Given the description of an element on the screen output the (x, y) to click on. 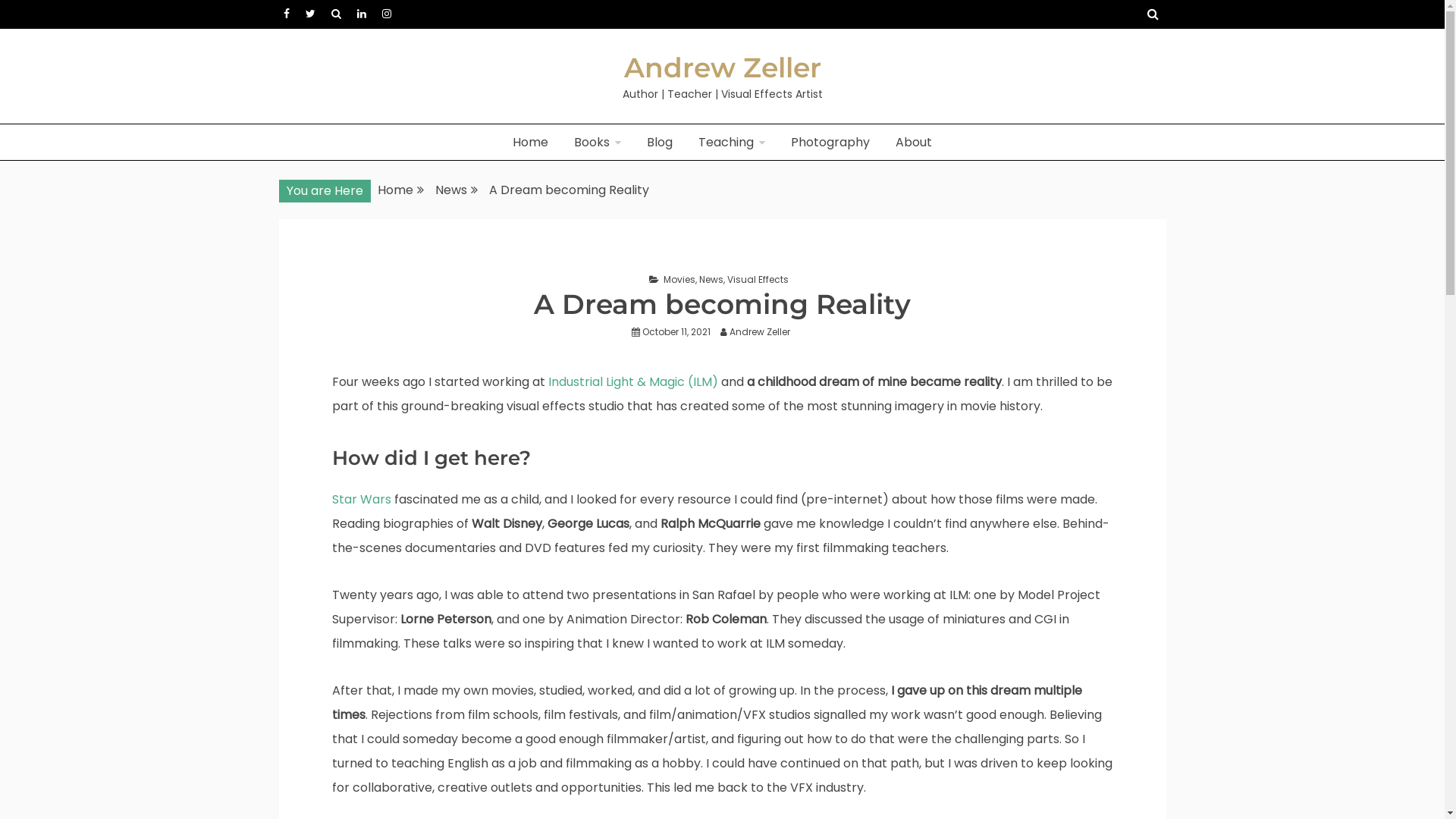
News Element type: text (451, 189)
Books Element type: text (597, 142)
October 11, 2021 Element type: text (676, 331)
Facebook Page Element type: text (286, 13)
Blog Element type: text (659, 142)
Home Element type: text (395, 189)
Andrew Zeller Element type: text (721, 67)
News Element type: text (711, 279)
Home Element type: text (530, 142)
LinkedIn Element type: text (360, 13)
Movies Element type: text (678, 279)
About Element type: text (913, 142)
Teaching Element type: text (731, 142)
Search Element type: text (31, 13)
Andrew Zeller Element type: text (763, 331)
goodreads Element type: text (335, 13)
Visual Effects Element type: text (756, 279)
Industrial Light & Magic (ILM) Element type: text (632, 381)
Twitter Element type: text (309, 13)
Star Wars Element type: text (361, 499)
Photography Element type: text (830, 142)
A Dream becoming Reality Element type: text (568, 189)
Instagram Element type: text (386, 13)
